Given the description of an element on the screen output the (x, y) to click on. 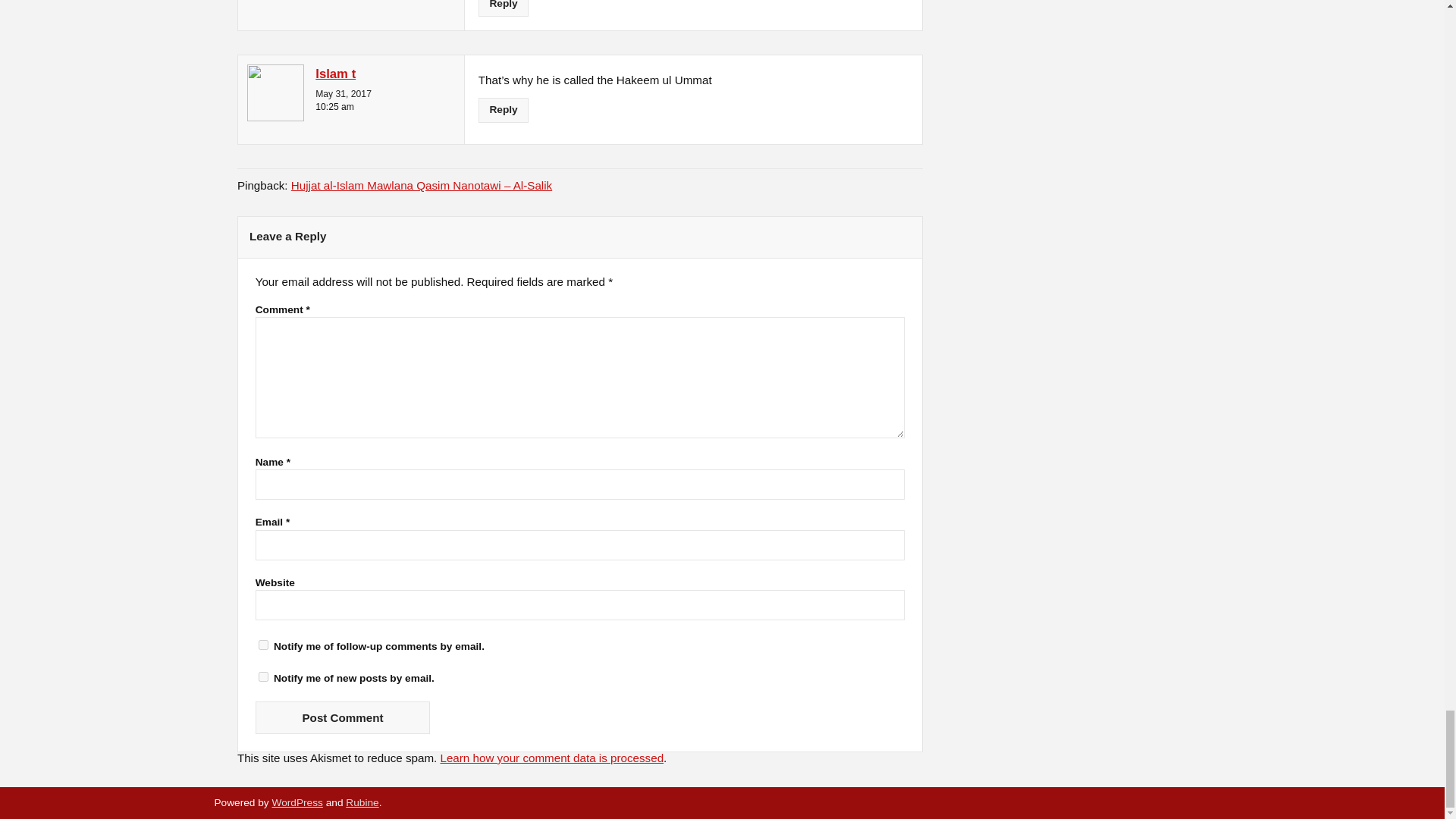
Post Comment (343, 717)
subscribe (263, 676)
subscribe (263, 644)
